Given the description of an element on the screen output the (x, y) to click on. 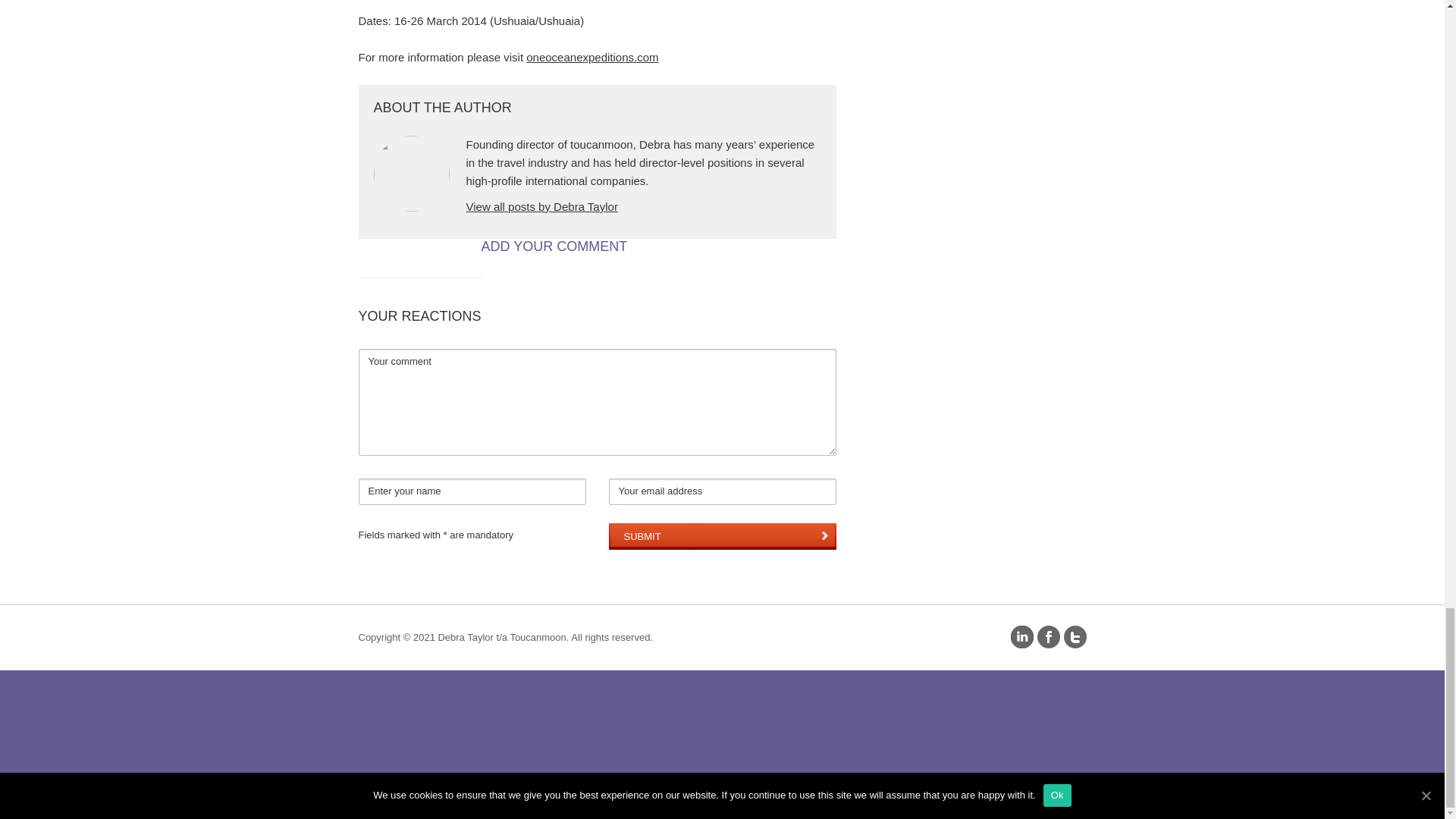
Your email address (721, 491)
View all posts by Debra Taylor (541, 205)
oneoceanexpeditions.com (591, 56)
Submit (721, 536)
Submit (721, 536)
oneoceanexpeditions.com (591, 56)
Enter your name (471, 491)
